Given the description of an element on the screen output the (x, y) to click on. 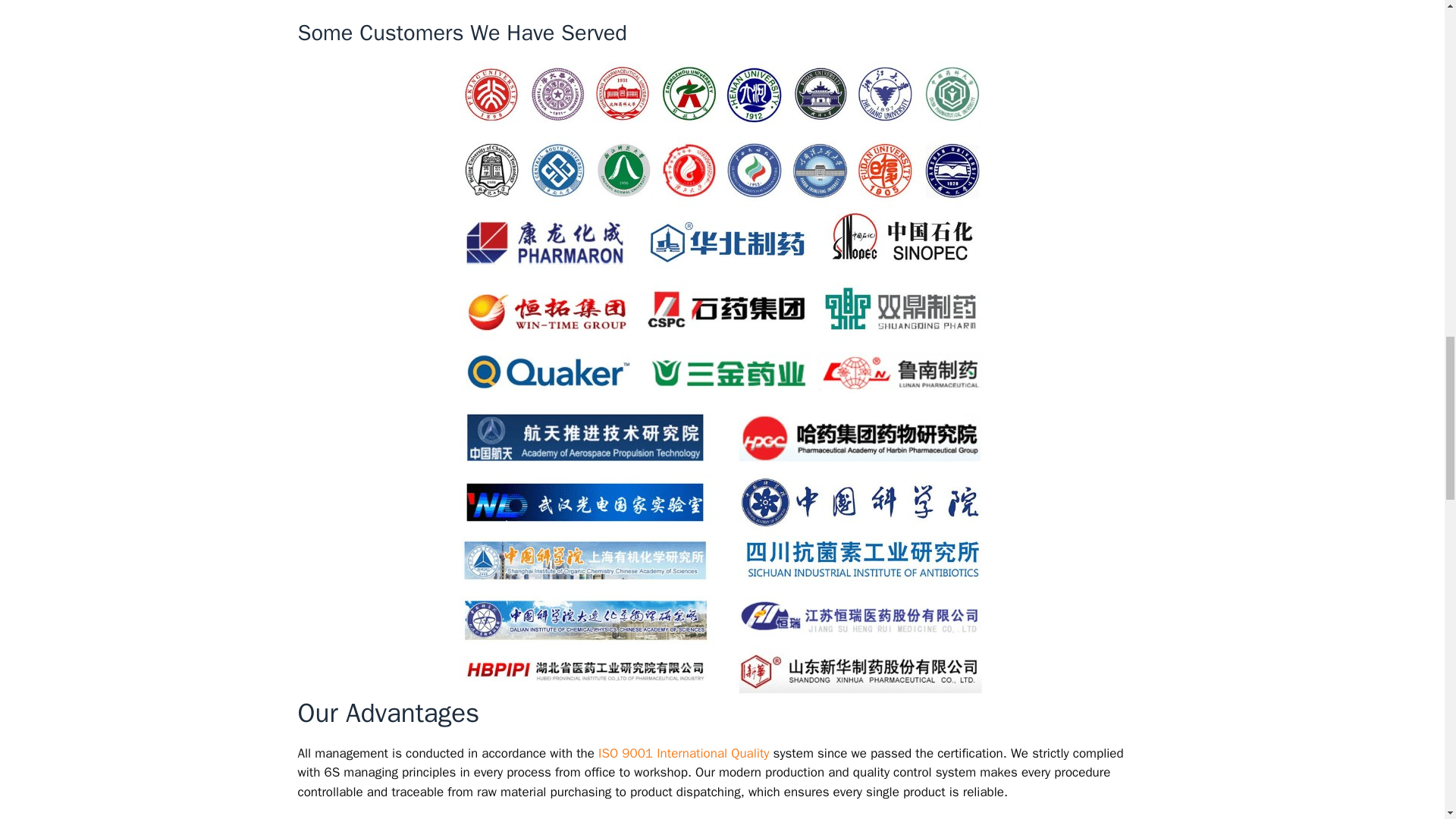
ISO 9001 International Quality (682, 753)
